Given the description of an element on the screen output the (x, y) to click on. 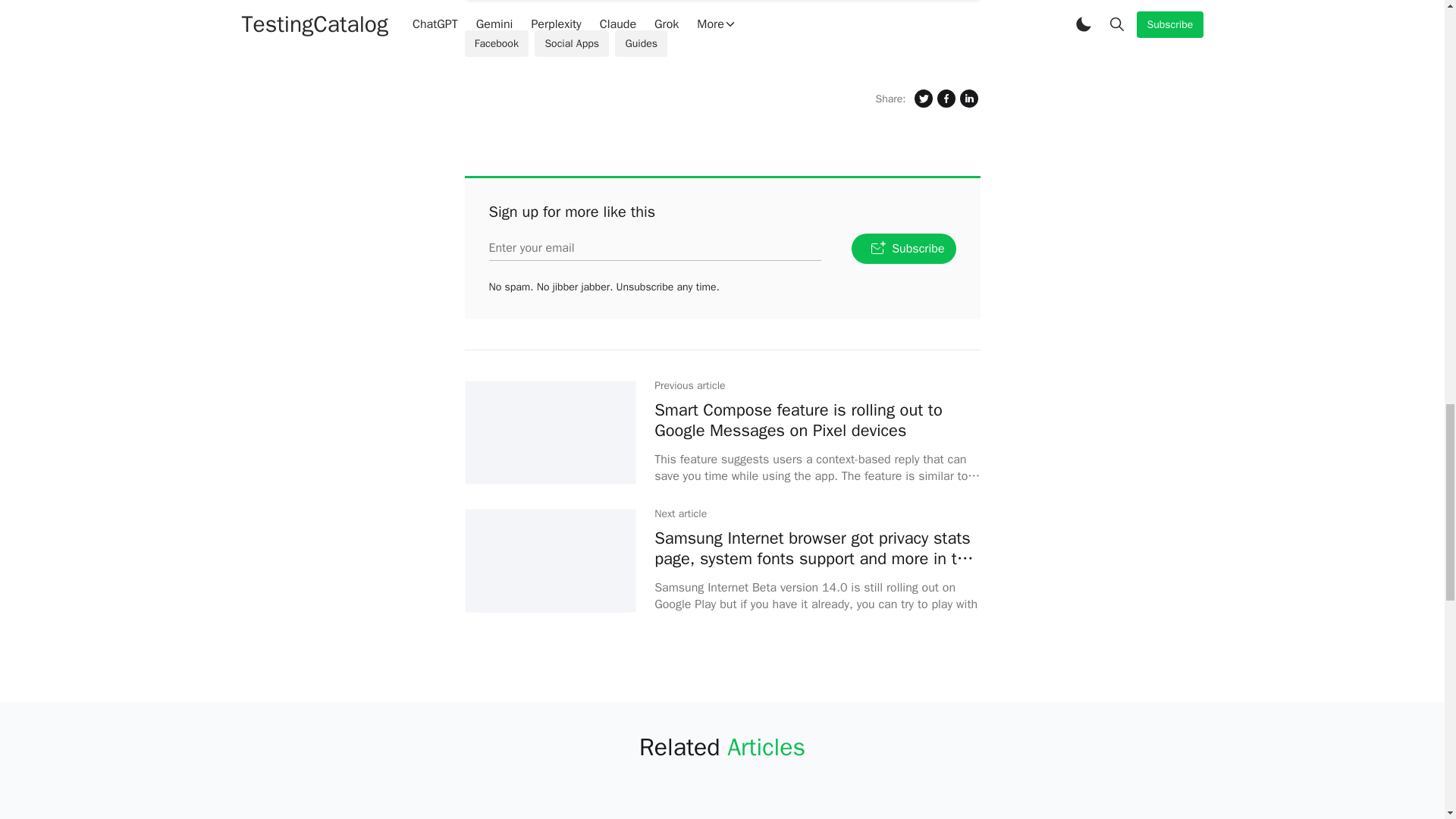
Facebook (496, 43)
Share on Linkedin (967, 97)
Social Apps (571, 43)
Guides (640, 43)
Facebook (721, 248)
Share on Facebook (496, 43)
Guides (945, 97)
Social Apps (640, 43)
Share on Twitter (571, 43)
